Given the description of an element on the screen output the (x, y) to click on. 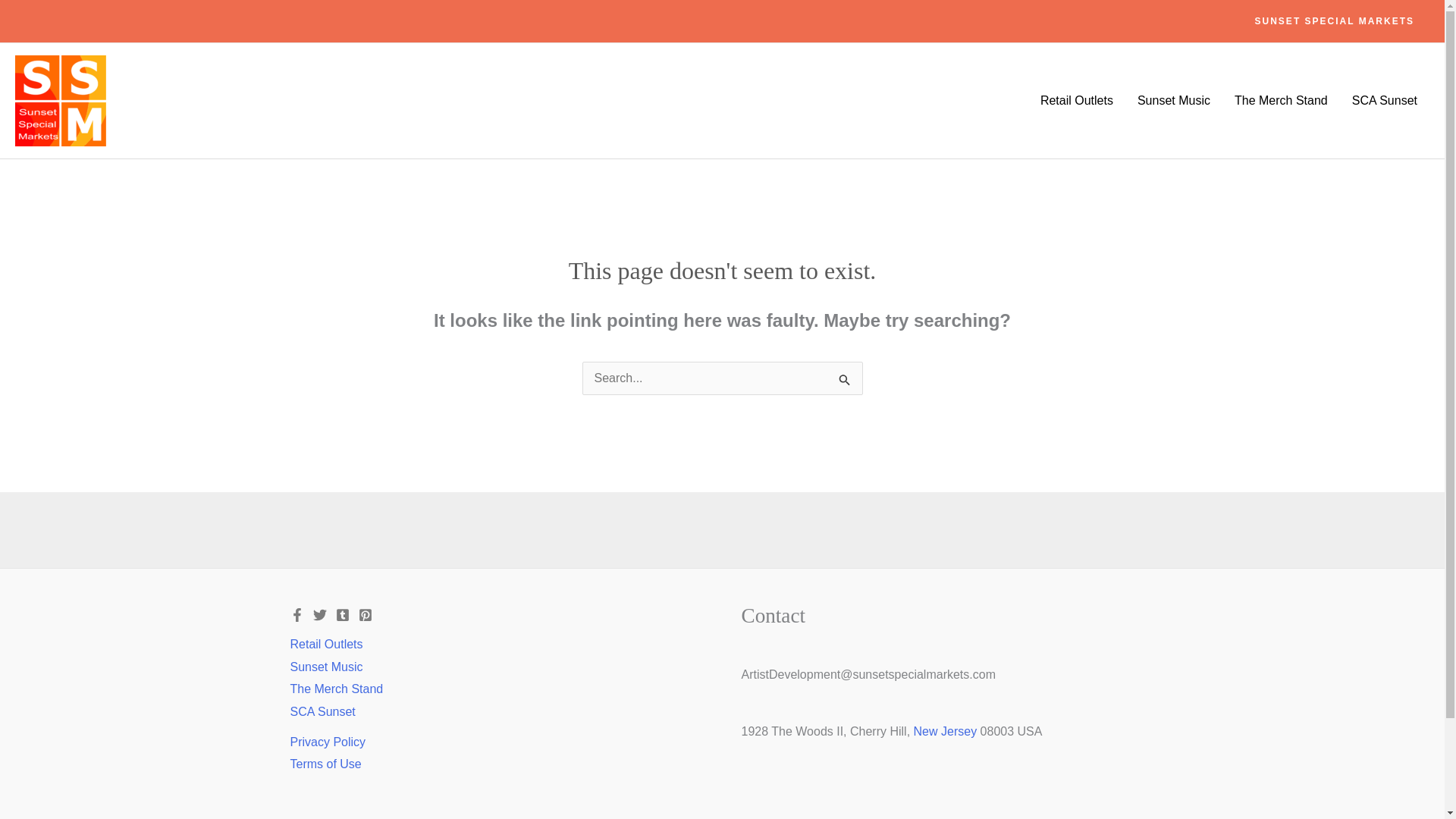
SCA Sunset (1384, 100)
Search (844, 379)
SUNSET SPECIAL MARKETS (1334, 21)
The Merch Stand (1281, 100)
Privacy Policy (327, 741)
Search (844, 379)
Terms of Use (325, 763)
Search (844, 379)
Sunset Music (325, 667)
Sunset Music (1174, 100)
The Merch Stand (335, 689)
Retail Outlets (1076, 100)
Retail Outlets (325, 644)
New Jersey (945, 730)
SCA Sunset (322, 712)
